Given the description of an element on the screen output the (x, y) to click on. 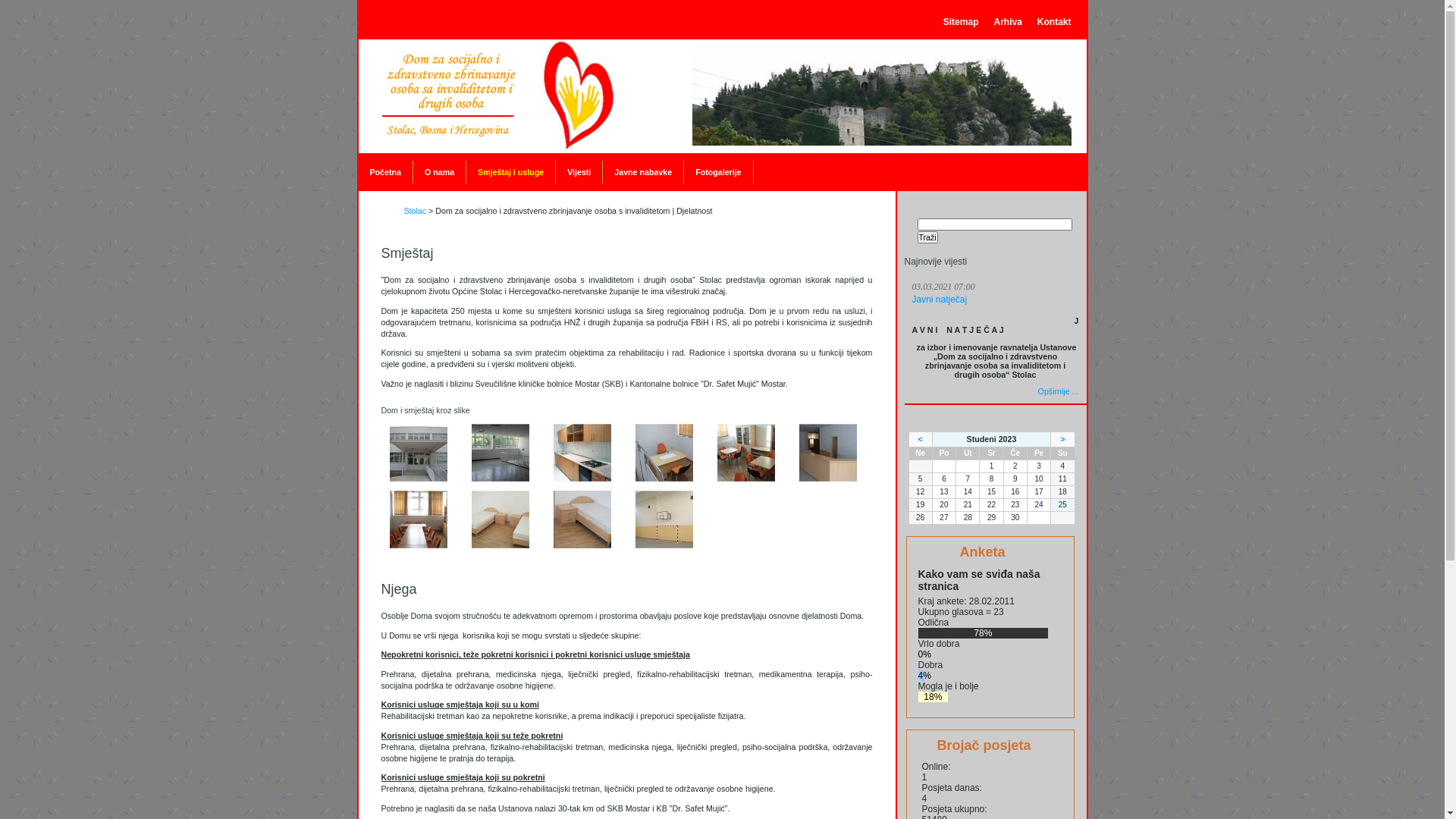
Javne nabavke Element type: text (642, 171)
sobe Element type: hover (582, 544)
ordinacija Element type: hover (664, 478)
Kontakt Element type: text (1054, 21)
recepcija Element type: hover (827, 478)
Vijesti Element type: text (578, 171)
> Element type: text (1062, 438)
Stolac Element type: text (414, 210)
soba Element type: hover (500, 544)
Fotogalerije Element type: text (718, 171)
< Element type: text (919, 438)
Arhiva Element type: text (1007, 21)
kuhinja1 Element type: hover (582, 478)
sala za sastanke Element type: hover (418, 544)
Sitemap Element type: text (961, 21)
dom ulaz Element type: hover (418, 478)
sportska dvorana Element type: hover (664, 544)
prostor za odmor Element type: hover (746, 478)
dom unutrasnjost Element type: hover (500, 478)
O nama Element type: text (439, 171)
